Given the description of an element on the screen output the (x, y) to click on. 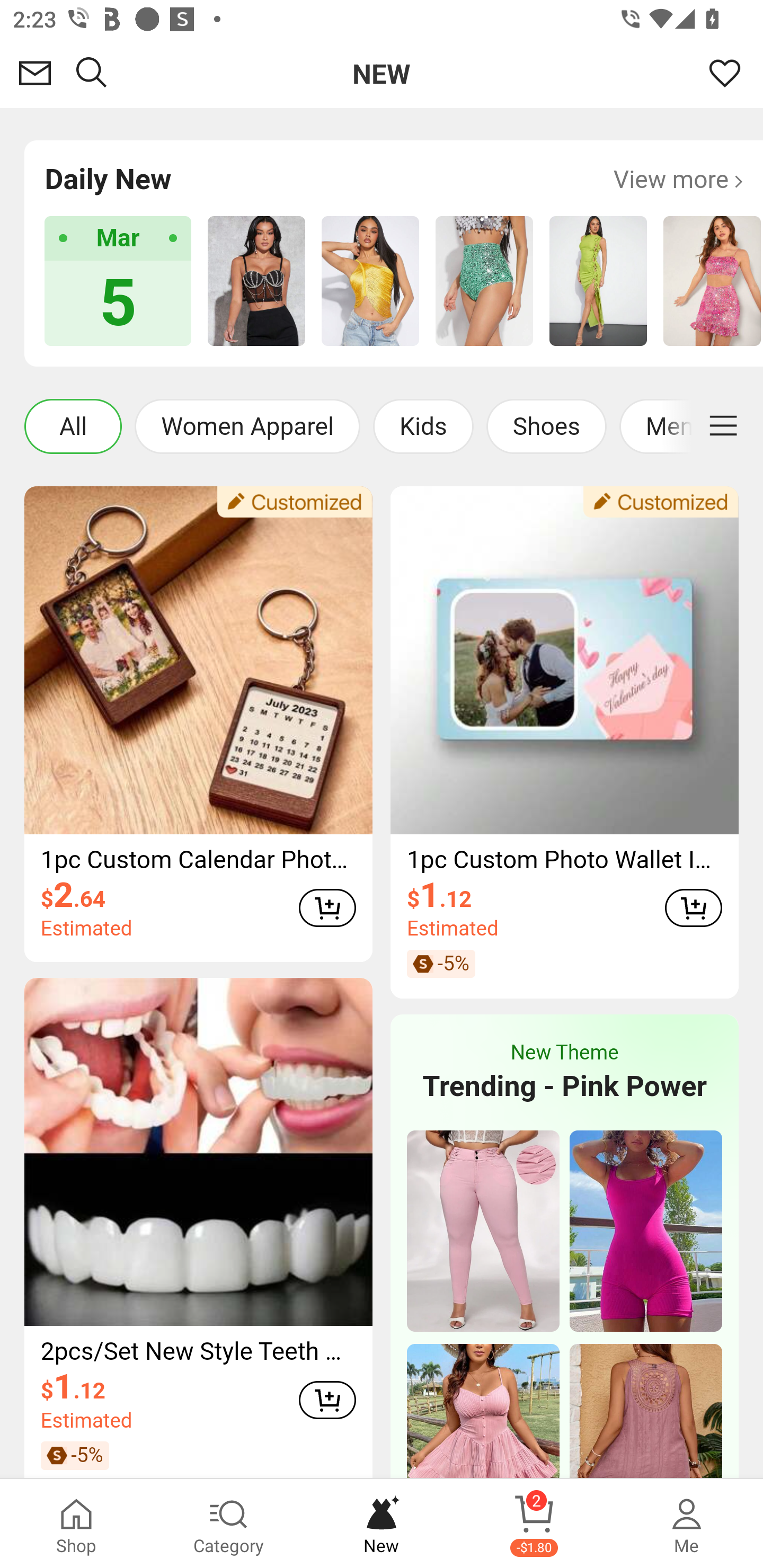
Search NEW Wishlist (381, 72)
Search (92, 72)
Wishlist (724, 72)
View more  (677, 179)
Mar5 (118, 280)
All (72, 426)
Women Apparel (246, 426)
Kids (422, 426)
Shoes (545, 426)
 (723, 426)
New Theme Trending - Pink Power (564, 1073)
Shop (76, 1523)
Category (228, 1523)
Cart 2 -$1.80 (533, 1523)
Me (686, 1523)
